Given the description of an element on the screen output the (x, y) to click on. 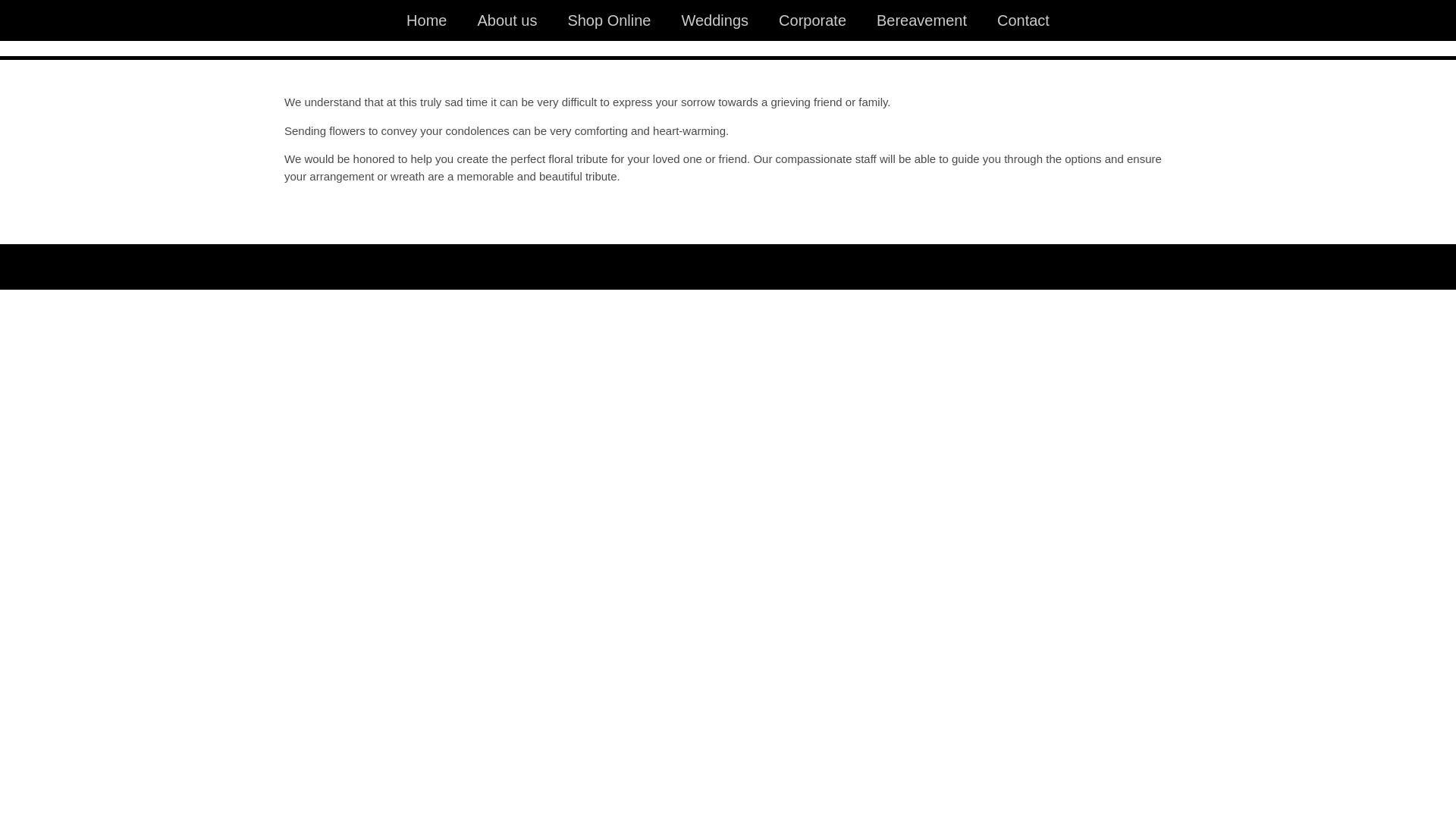
Corporate Element type: text (812, 20)
Home Element type: text (426, 20)
Bereavement Element type: text (921, 20)
Weddings Element type: text (714, 20)
Contact Element type: text (1023, 20)
About us Element type: text (506, 20)
Shop Online Element type: text (608, 20)
